Given the description of an element on the screen output the (x, y) to click on. 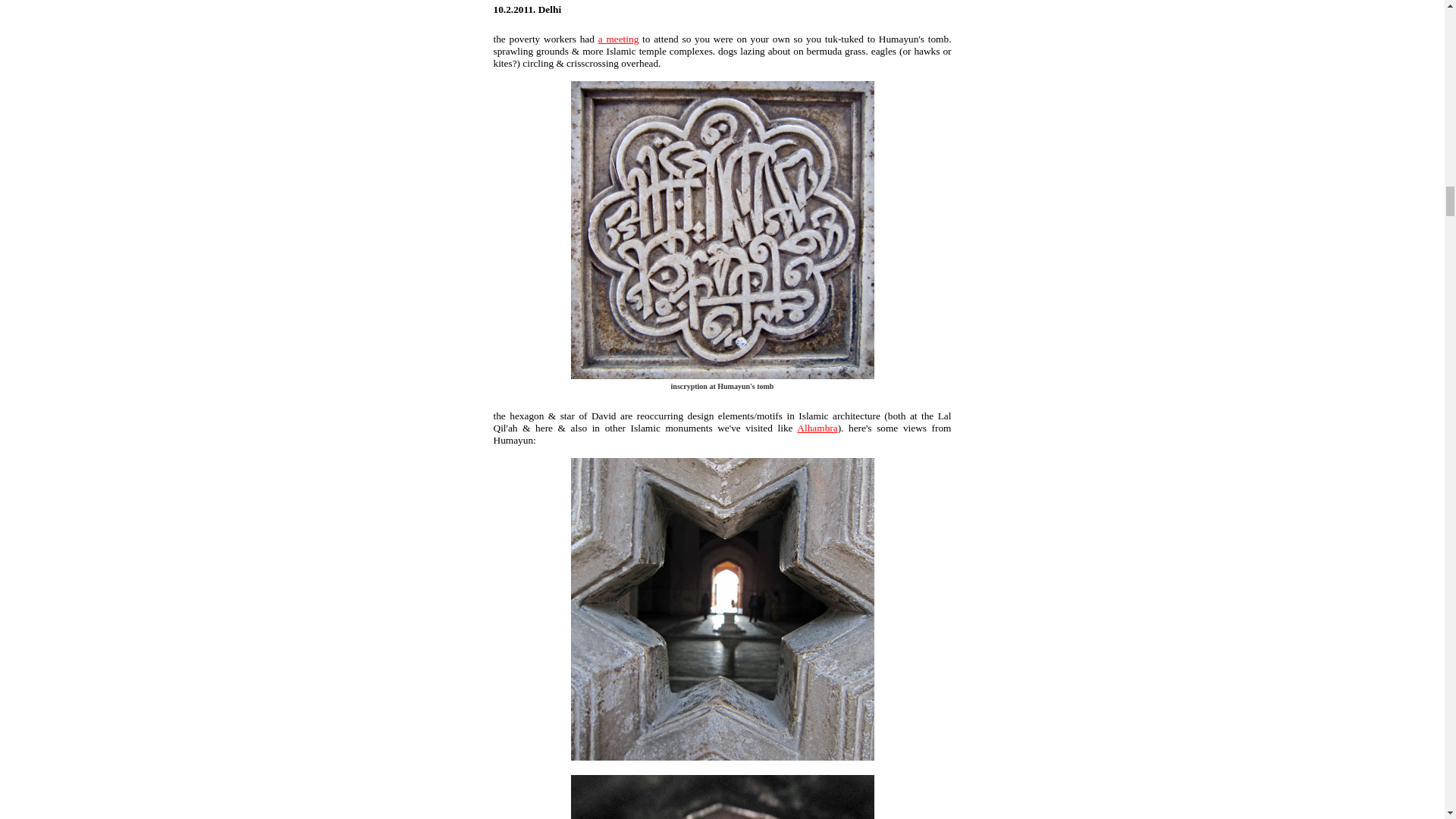
a meeting (618, 39)
Alhambra (816, 428)
